Given the description of an element on the screen output the (x, y) to click on. 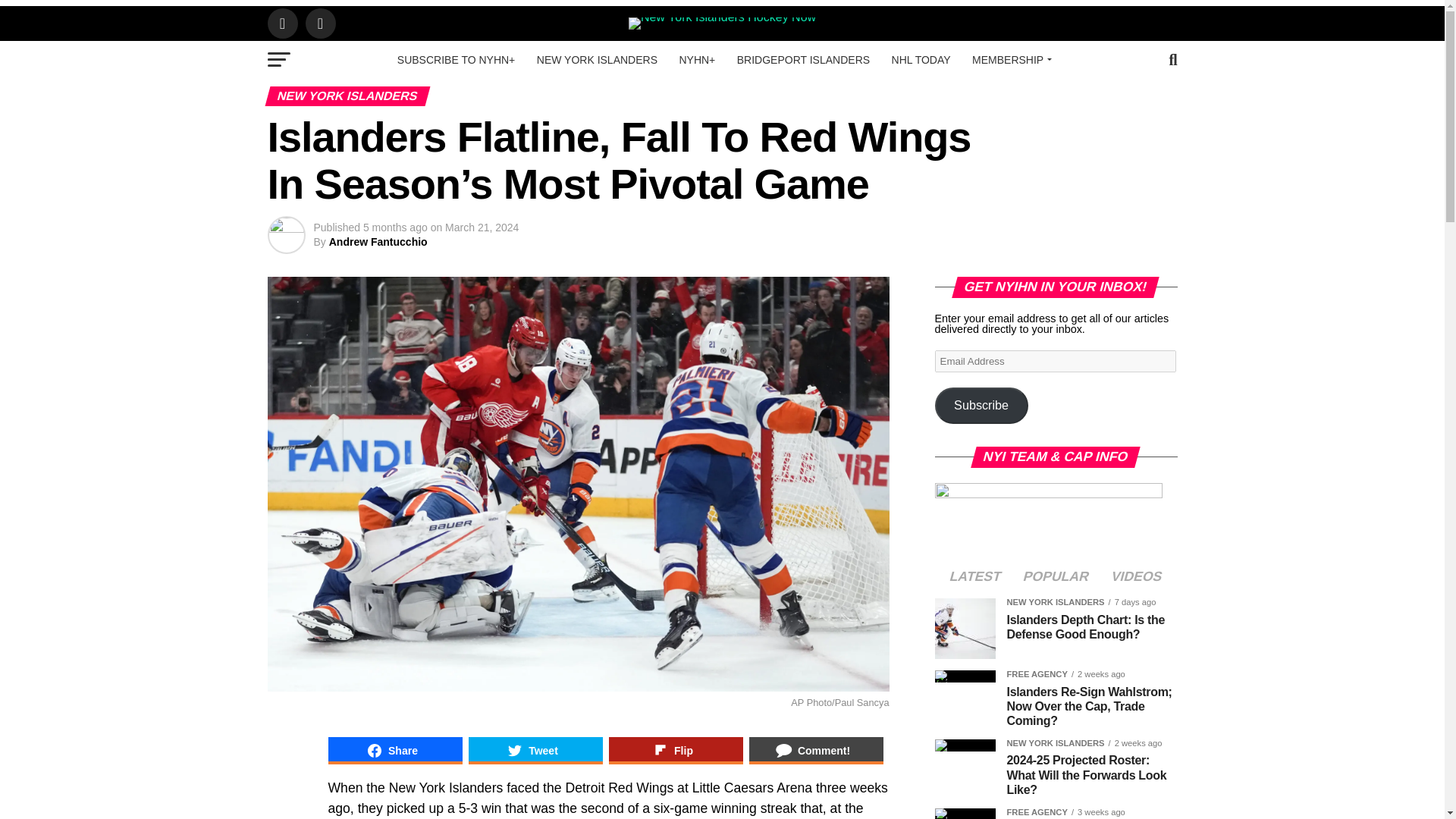
Posts by Andrew Fantucchio (378, 241)
Share on Share (394, 750)
Share on Tweet (535, 750)
Share on Comment! (816, 750)
BRIDGEPORT ISLANDERS (803, 59)
NHL TODAY (920, 59)
Share on Flip (675, 750)
NEW YORK ISLANDERS (596, 59)
